Given the description of an element on the screen output the (x, y) to click on. 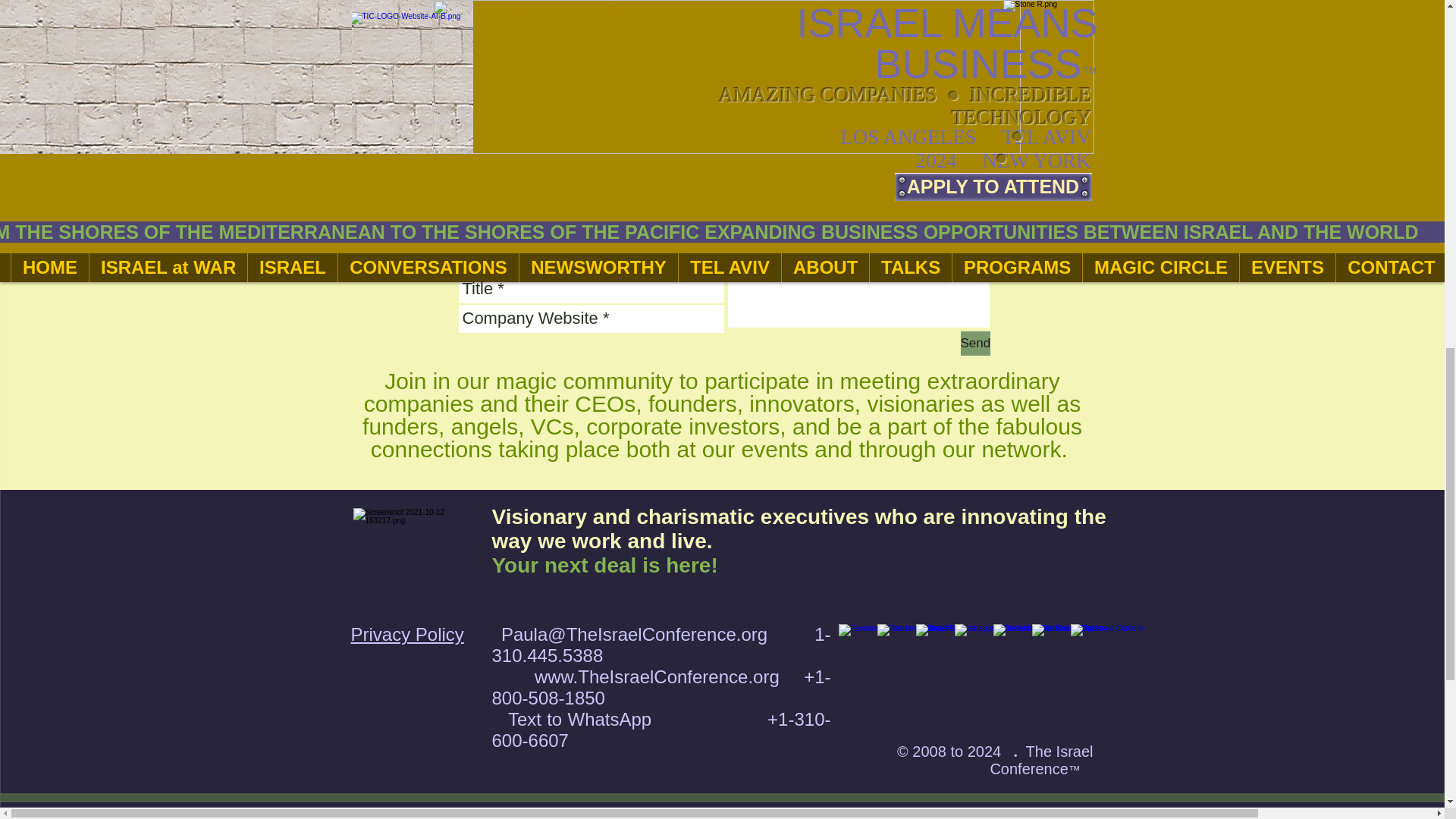
Privacy Policy (406, 634)
Oran Dror.png (437, 23)
Send (974, 343)
www.TheIsraelConference.org (656, 676)
